Given the description of an element on the screen output the (x, y) to click on. 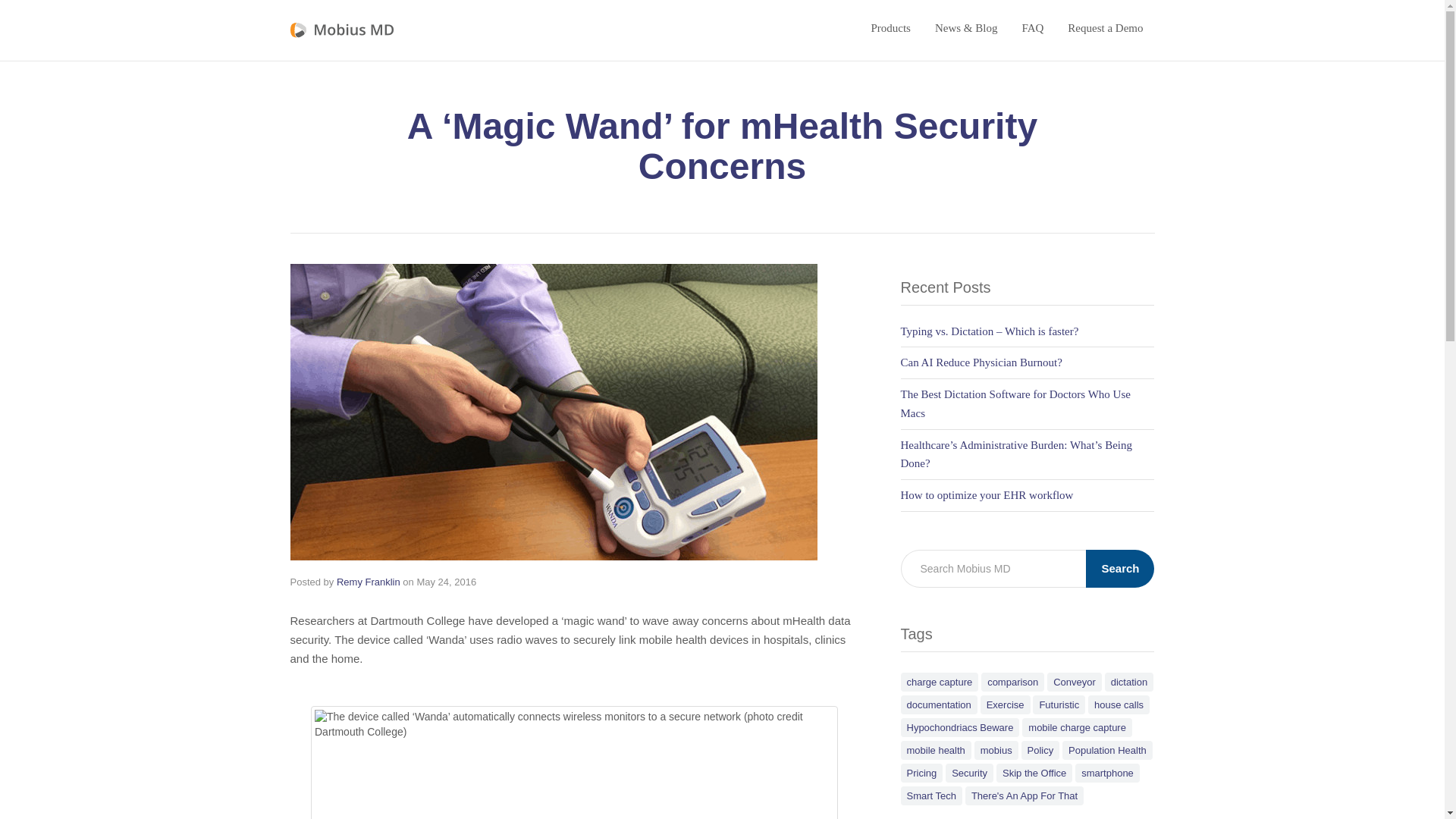
The Best Dictation Software for Doctors Who Use Macs (1016, 403)
Exercise (1004, 704)
mobius (995, 750)
Request a Demo (1104, 27)
house calls (1118, 704)
Search (1120, 568)
charge capture (939, 681)
Policy (1040, 750)
Hypochondriacs Beware (960, 727)
Remy Franklin (368, 582)
Futuristic (1058, 704)
mobile health (936, 750)
Population Health (1107, 750)
comparison (1012, 681)
Posts by Remy Franklin (368, 582)
